Given the description of an element on the screen output the (x, y) to click on. 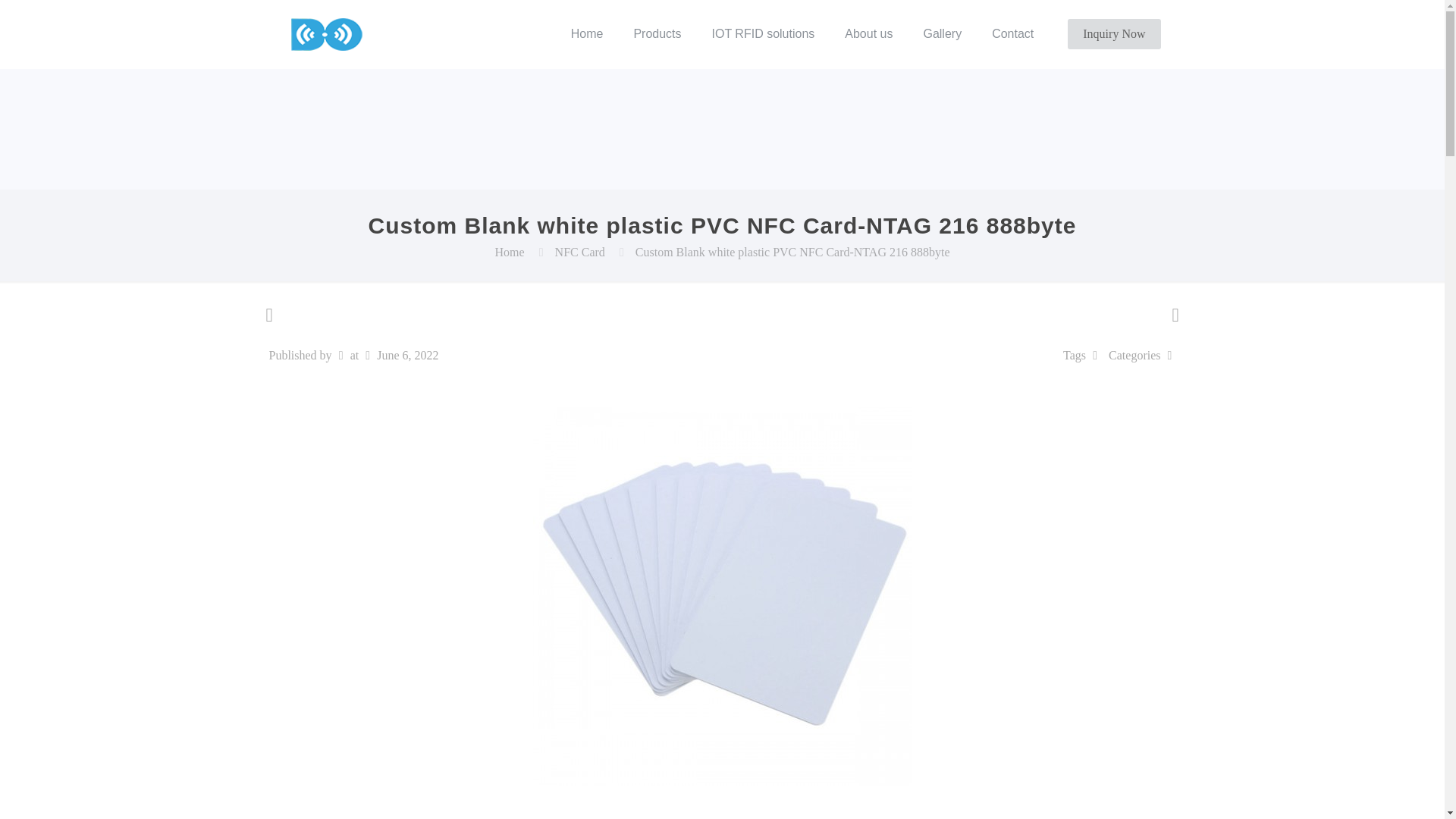
Inquiry Now (1113, 33)
Home (587, 33)
About us (868, 33)
IOT RFID solutions (763, 33)
NFC Card (579, 251)
DO RFID Reader Manufacturer (326, 33)
Products (656, 33)
Contact (1012, 33)
Gallery (941, 33)
Home (509, 251)
